Given the description of an element on the screen output the (x, y) to click on. 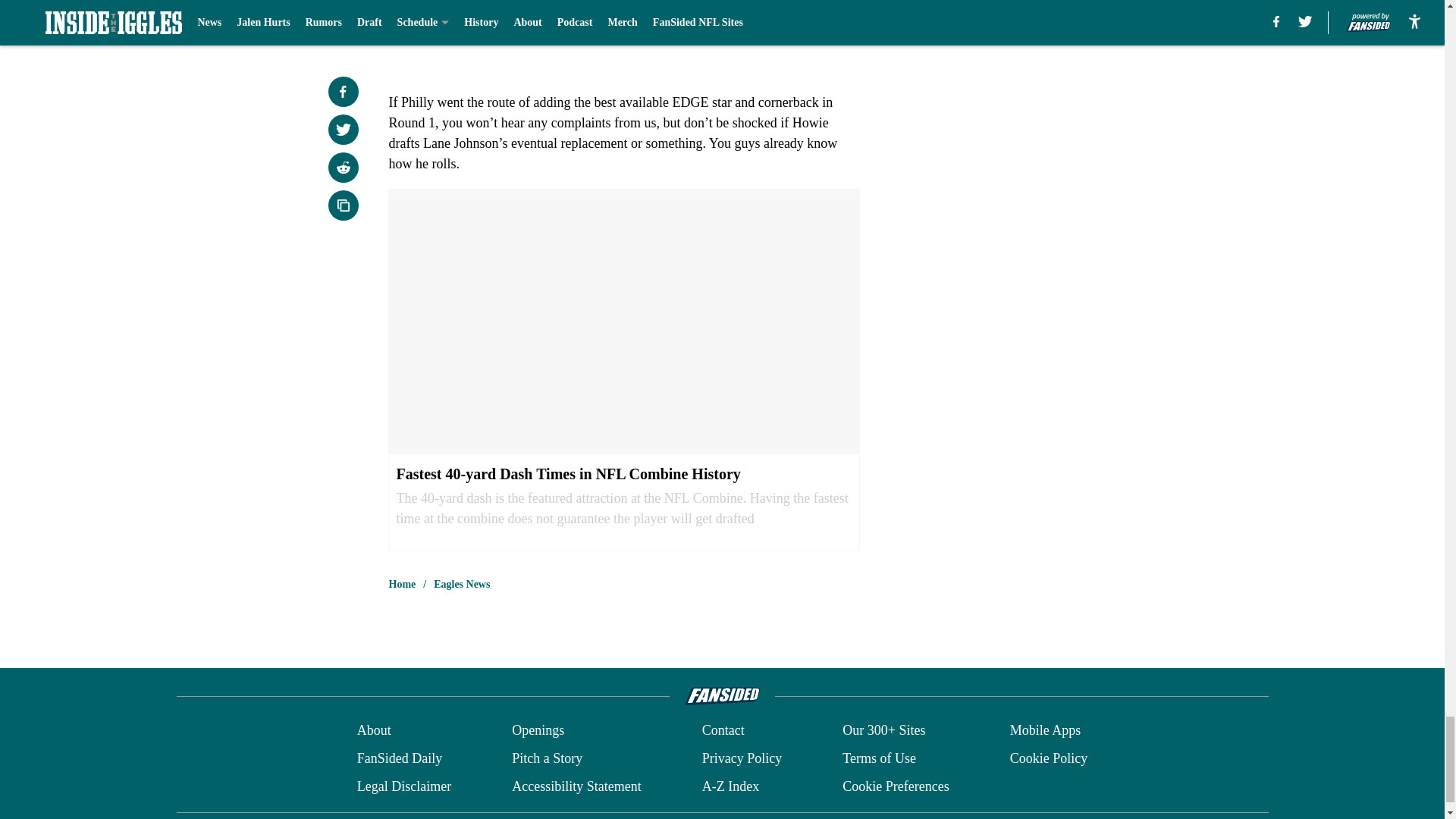
About (373, 730)
Eagles News (461, 584)
Openings (538, 730)
Terms of Use (879, 758)
Pitch a Story (547, 758)
Privacy Policy (742, 758)
FanSided Daily (399, 758)
Home (401, 584)
Mobile Apps (1045, 730)
